Given the description of an element on the screen output the (x, y) to click on. 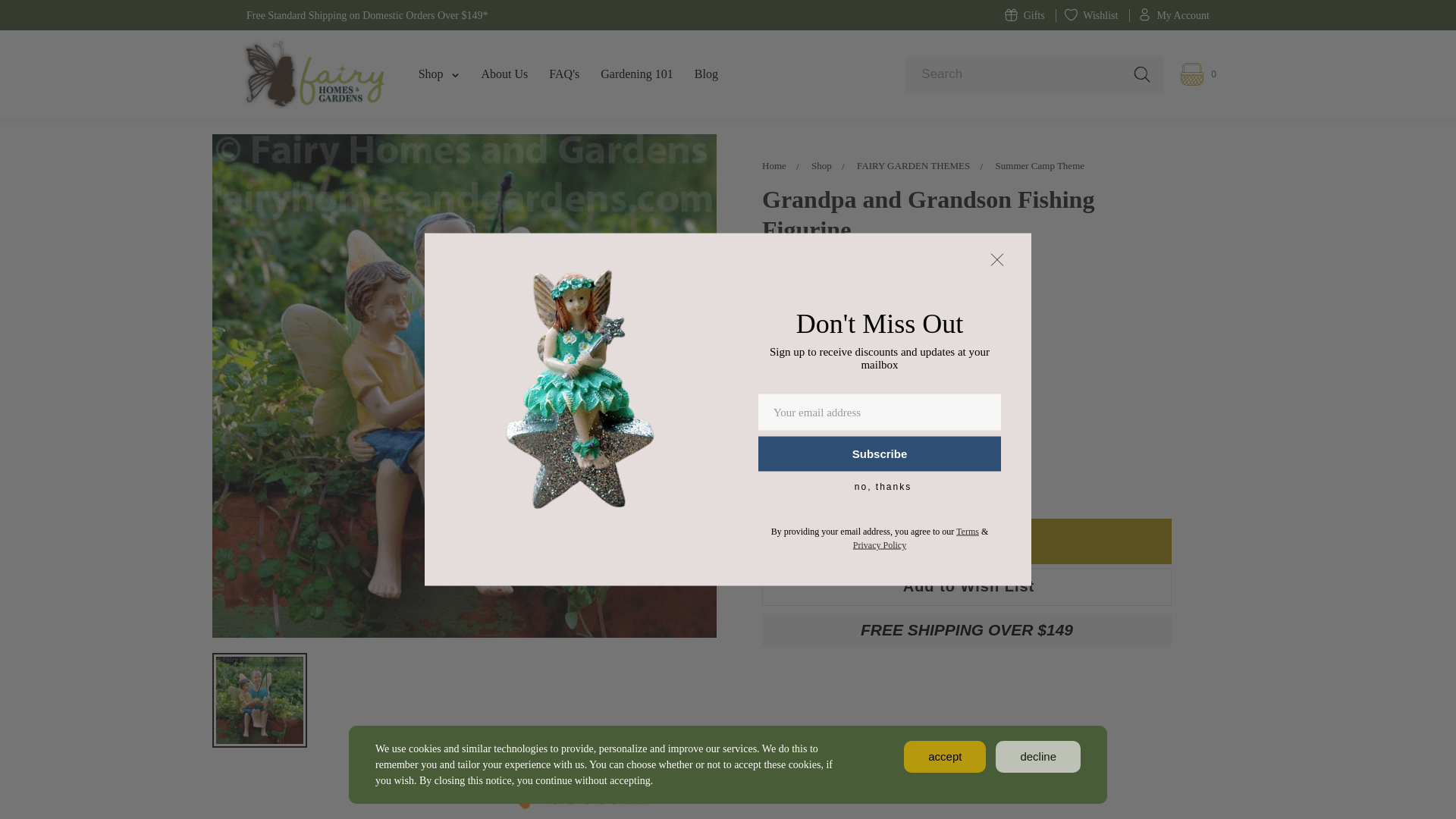
Gifts (1024, 15)
Subscribe (879, 453)
Wishlist (1091, 15)
1 (819, 481)
Add to Cart (966, 541)
Fairy Homes and Gardens (311, 73)
My Account (1173, 15)
